Given the description of an element on the screen output the (x, y) to click on. 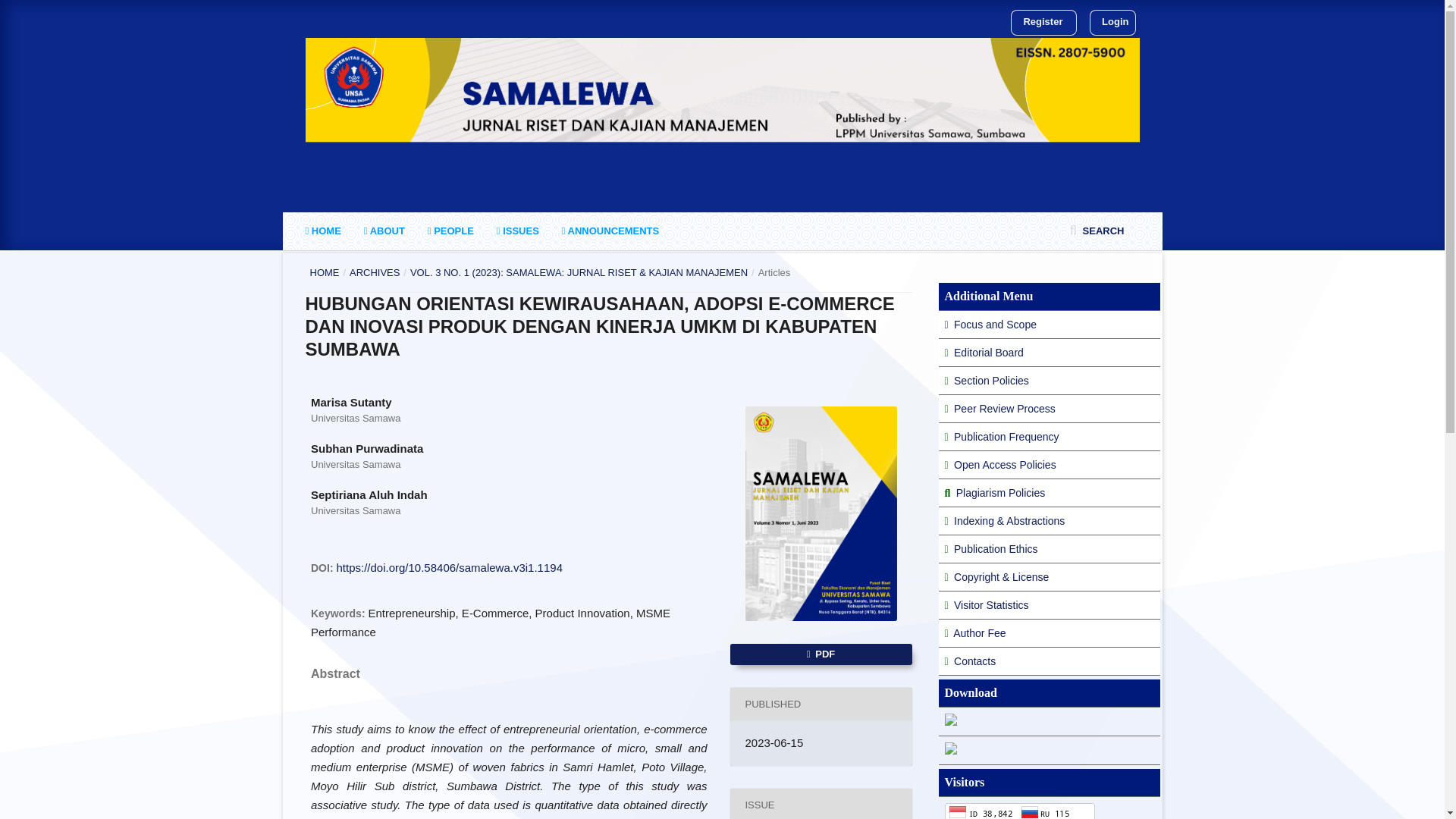
PDF (820, 654)
ARCHIVES (373, 272)
ISSUES (517, 231)
HOME (323, 272)
Register (1042, 21)
ANNOUNCEMENTS (610, 231)
HOME (322, 231)
PEOPLE (451, 231)
Login (1111, 21)
  Focus and Scope (990, 324)
